Given the description of an element on the screen output the (x, y) to click on. 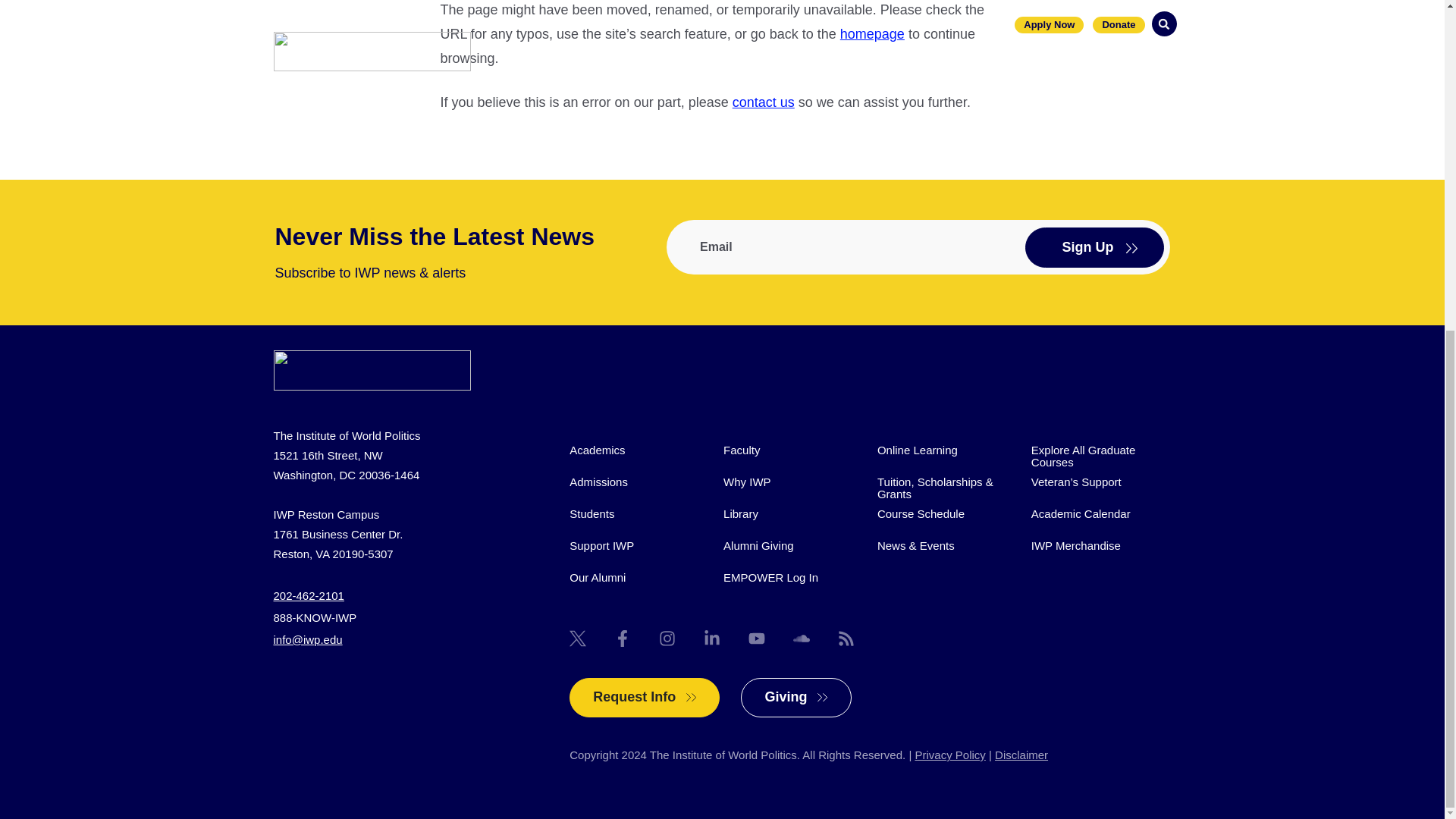
Sign Up (1094, 247)
